Given the description of an element on the screen output the (x, y) to click on. 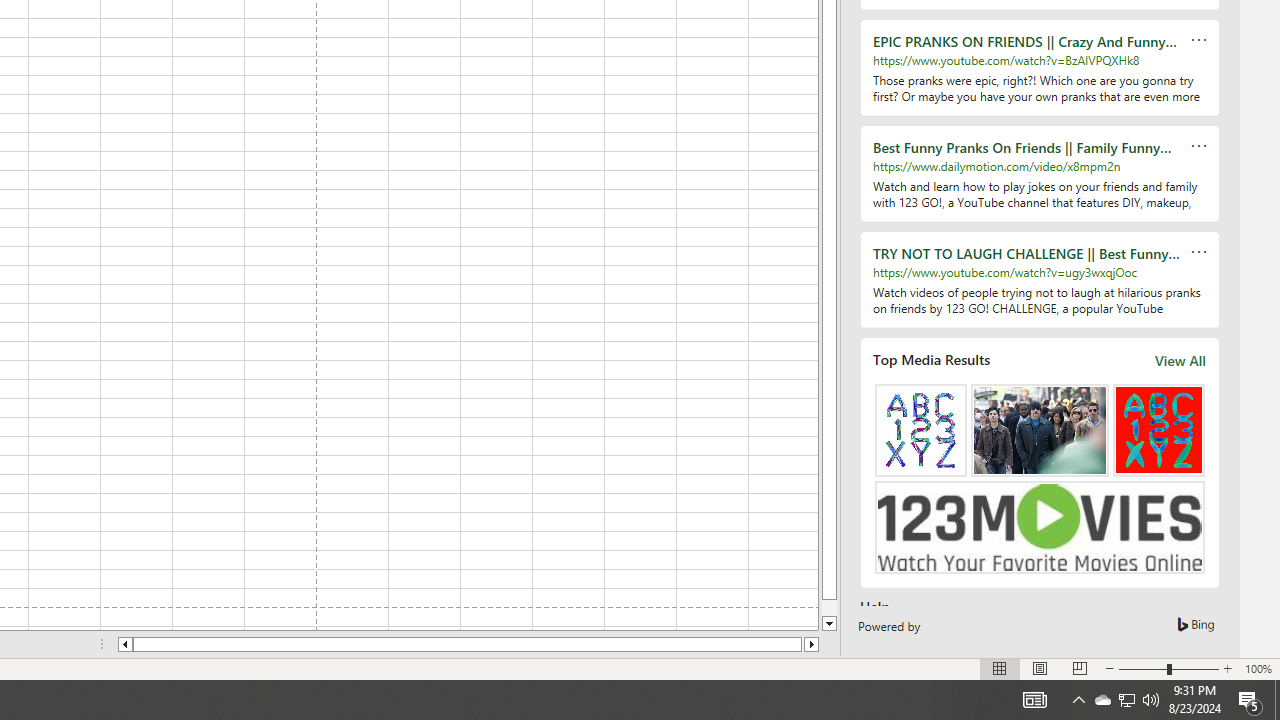
Show desktop (1277, 699)
